Given the description of an element on the screen output the (x, y) to click on. 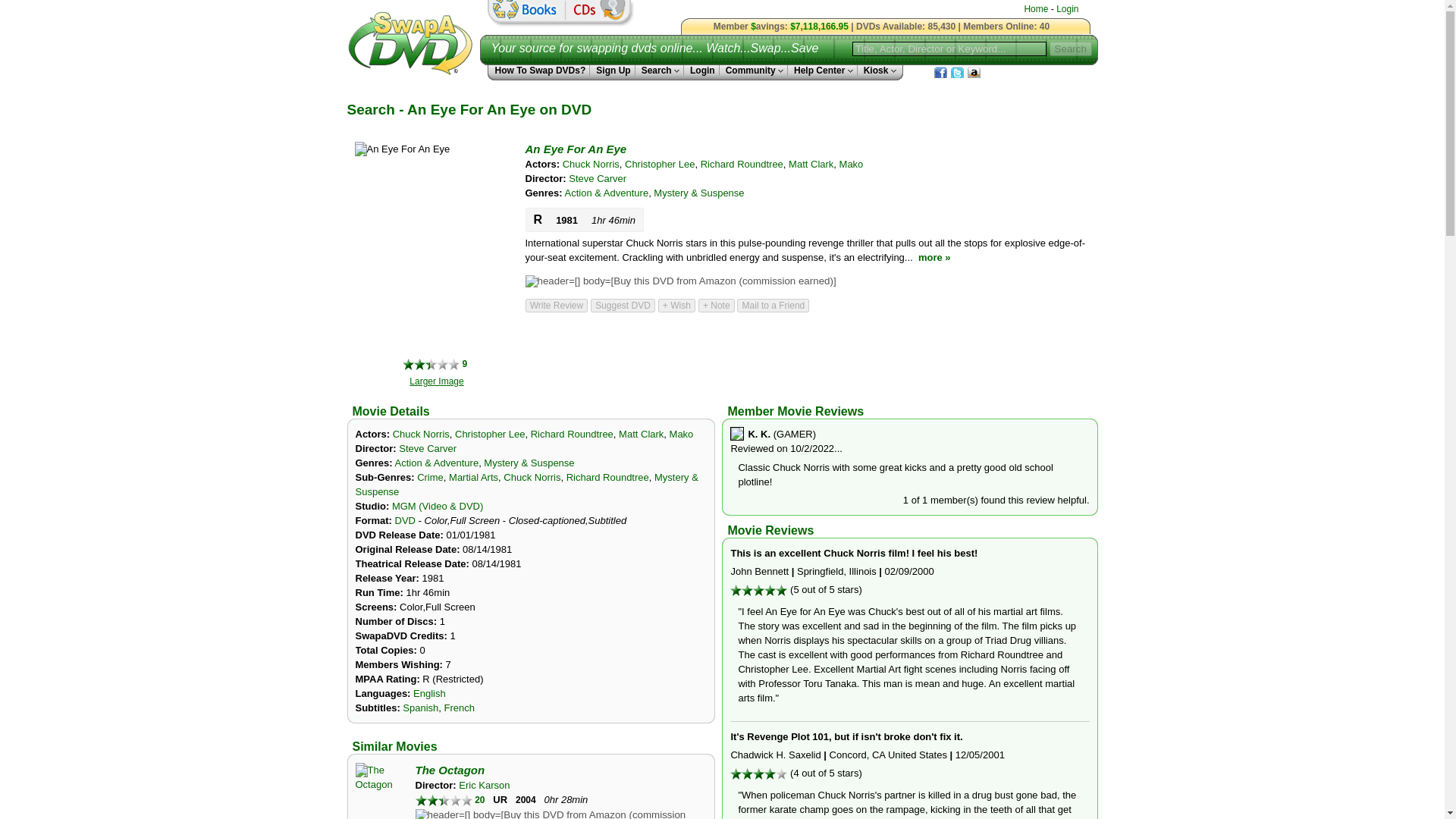
Kiosk (876, 70)
Home (1035, 9)
Login (701, 70)
Community (753, 70)
How To Swap DVDs? (538, 70)
Sign Up (611, 70)
Login (1067, 9)
Mail to a Friend (772, 305)
Buy from Amazon (679, 281)
Search (659, 70)
